Given the description of an element on the screen output the (x, y) to click on. 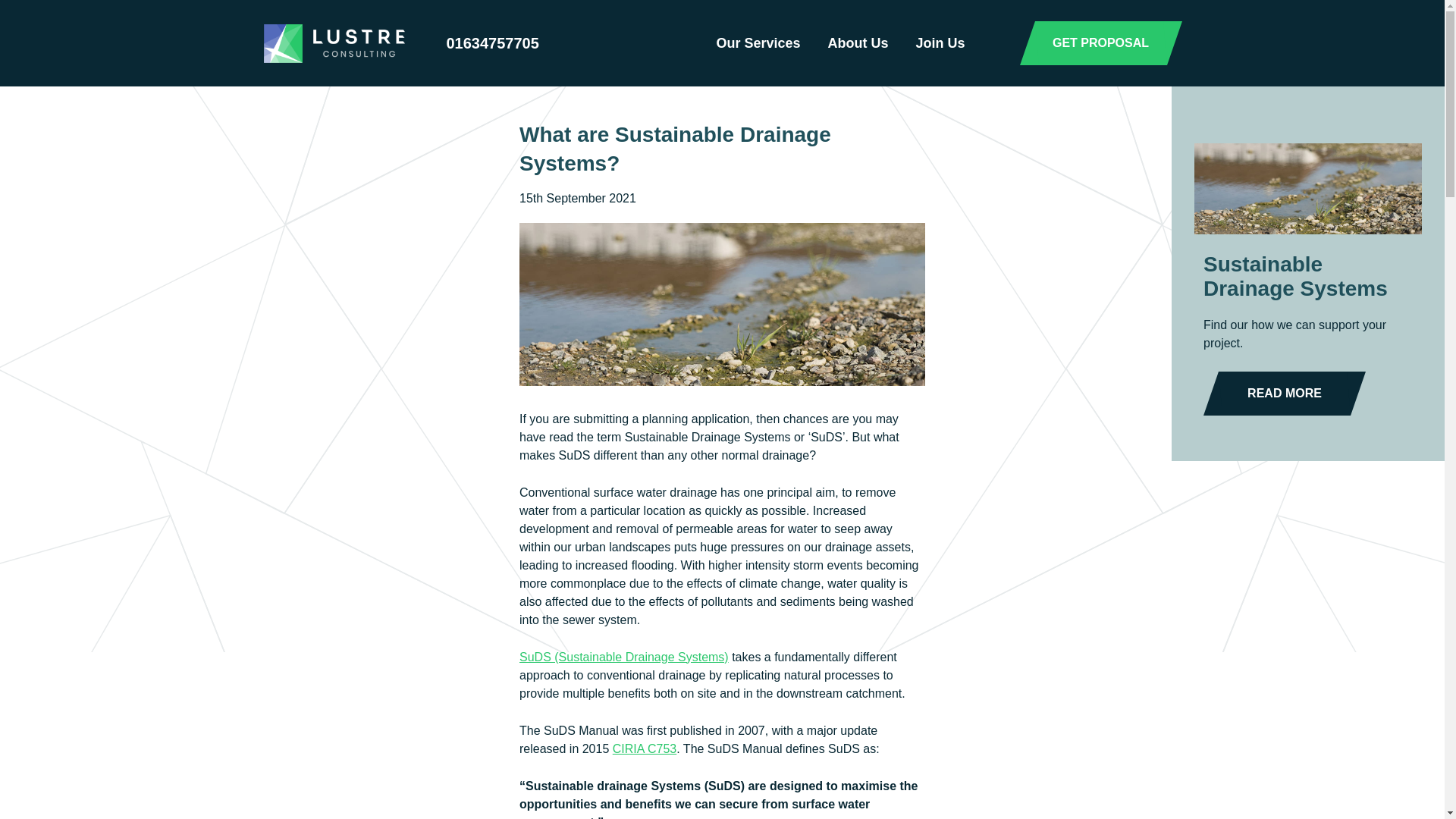
Join Us (939, 43)
About Us (857, 43)
Our Services (757, 43)
GET PROPOSAL (1099, 43)
READ MORE (1284, 393)
01634757705 (490, 43)
CIRIA C753 (644, 748)
